Given the description of an element on the screen output the (x, y) to click on. 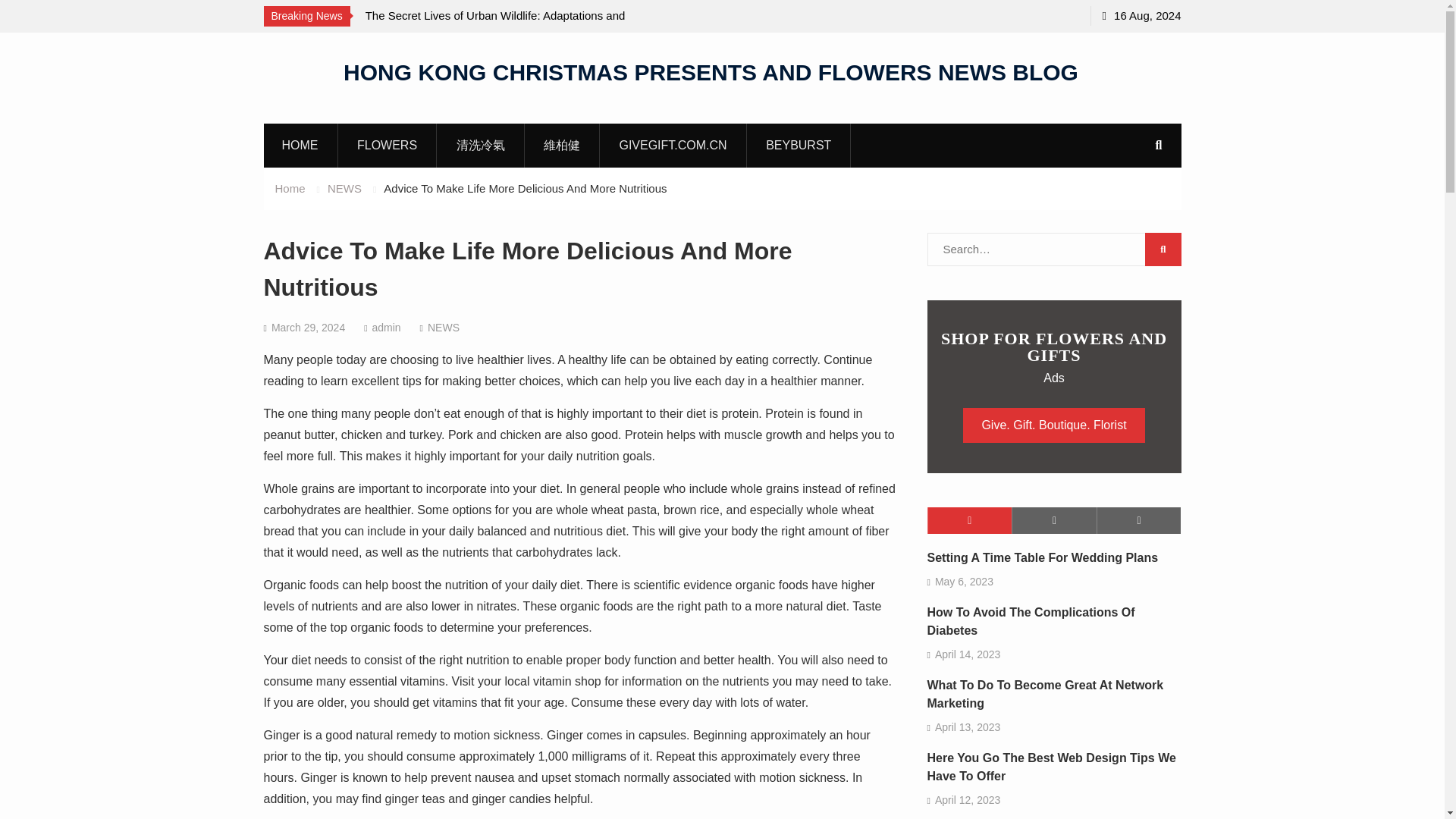
Give. Gift. Boutique. Florist (1053, 425)
BEYBURST (798, 144)
admin (385, 327)
NEWS (444, 327)
March 29, 2024 (307, 327)
GIVEGIFT.COM.CN (672, 144)
FLOWERS (386, 144)
Home (289, 187)
